Given the description of an element on the screen output the (x, y) to click on. 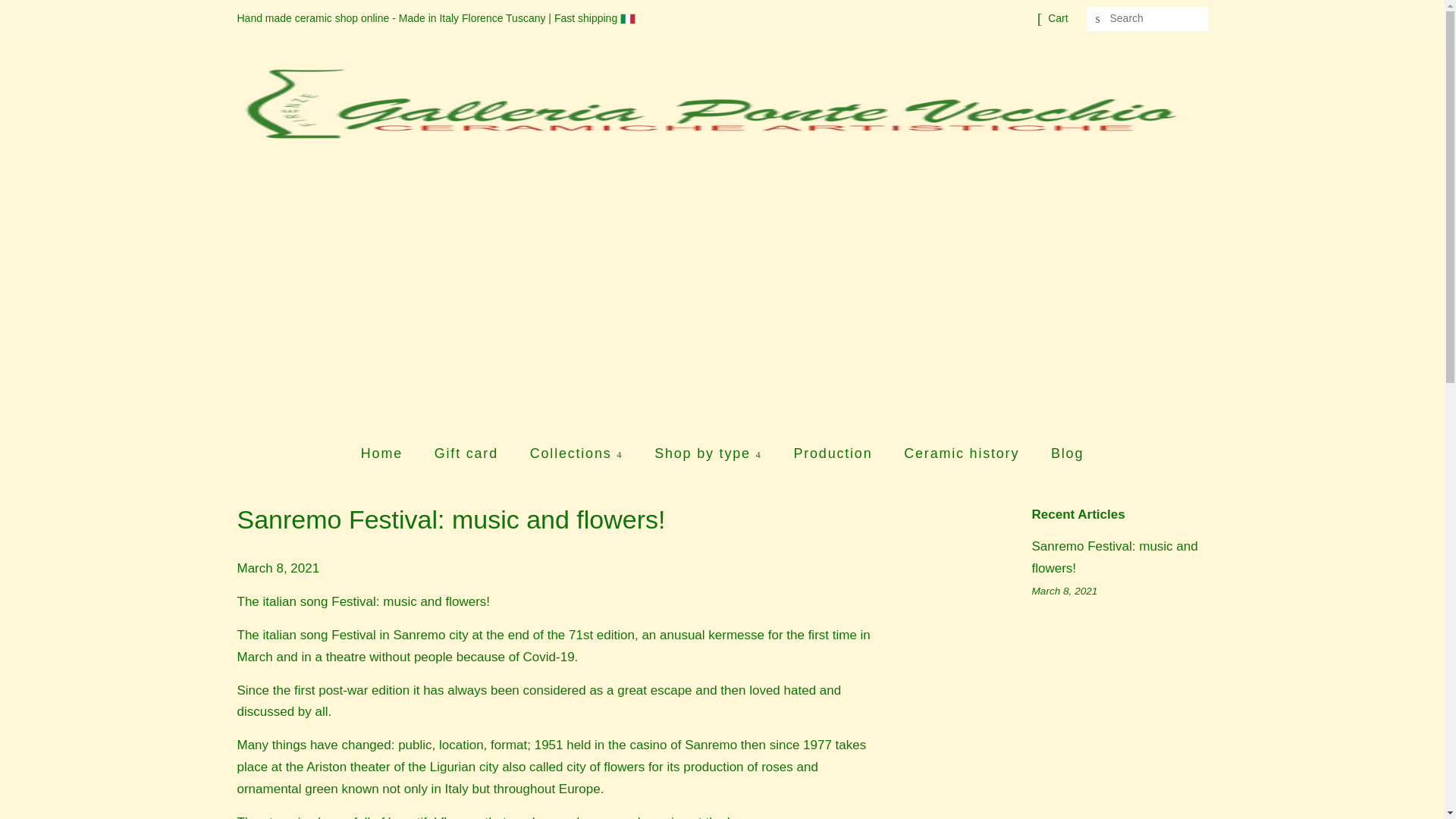
Search (1097, 18)
Cart (1057, 18)
